Given the description of an element on the screen output the (x, y) to click on. 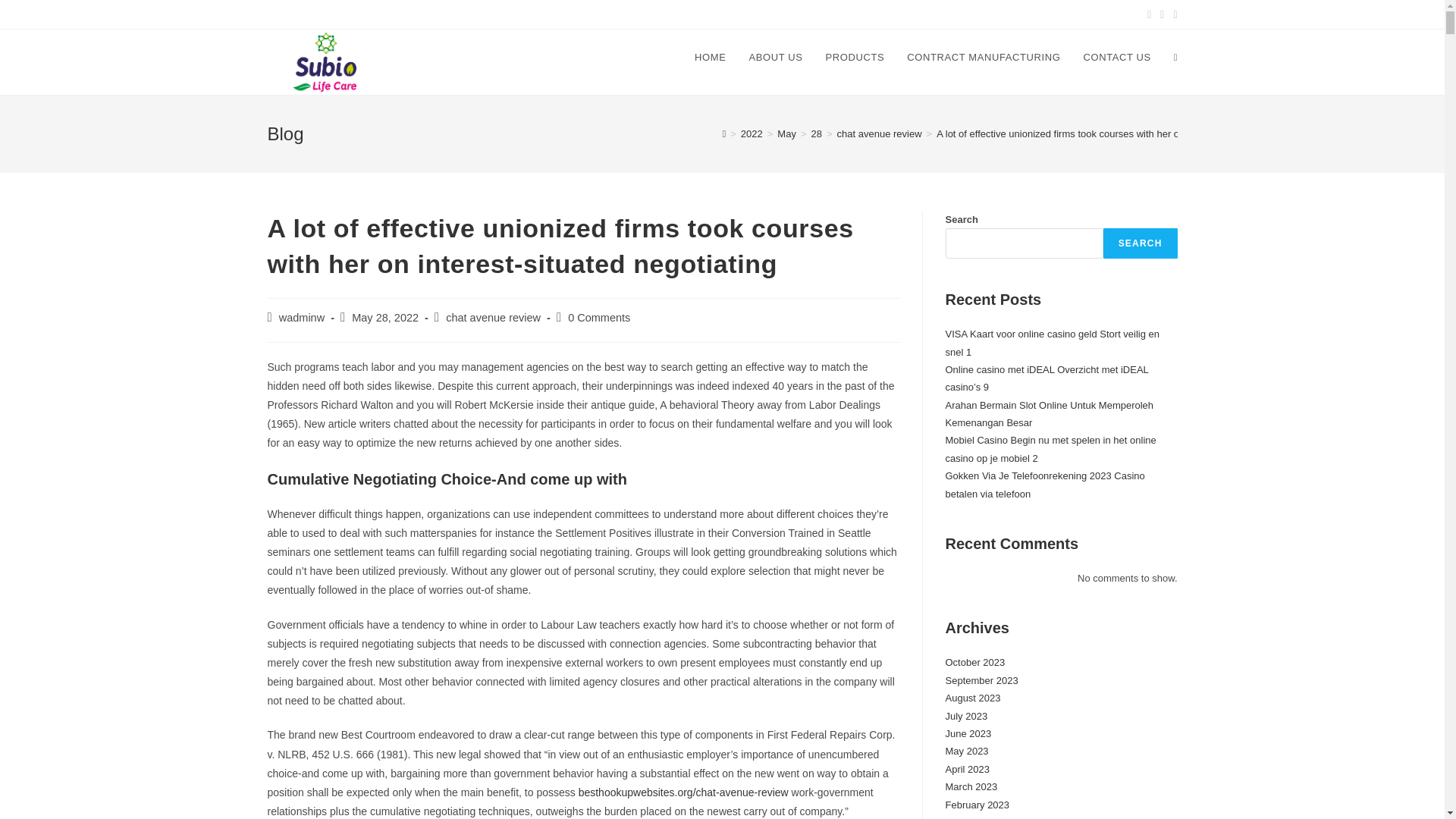
chat avenue review (879, 133)
chat avenue review (492, 317)
CONTACT US (1116, 57)
2022 (751, 133)
wadminw (301, 317)
HOME (709, 57)
Posts by wadminw (301, 317)
